Given the description of an element on the screen output the (x, y) to click on. 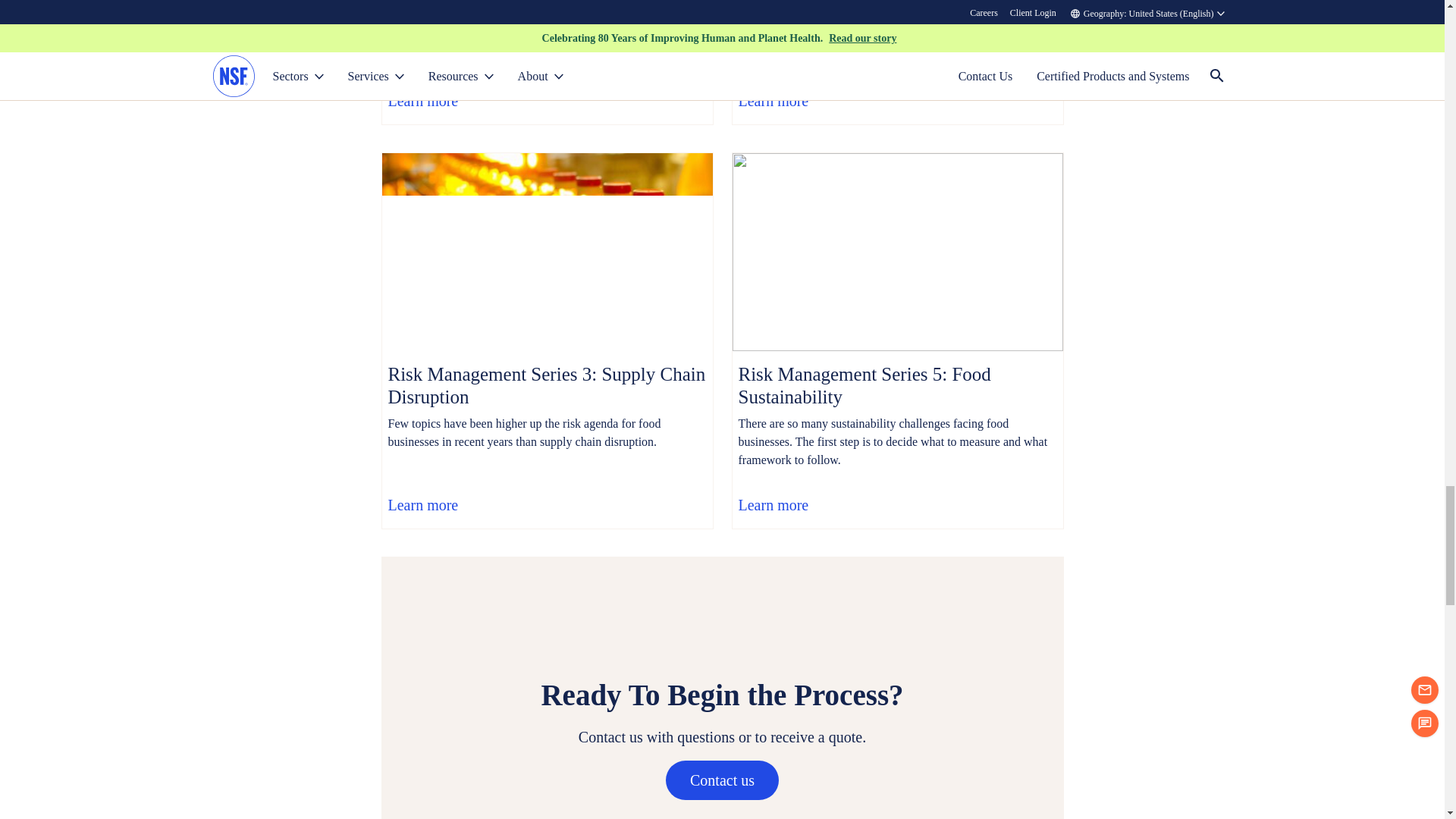
Contact us (721, 780)
